Given the description of an element on the screen output the (x, y) to click on. 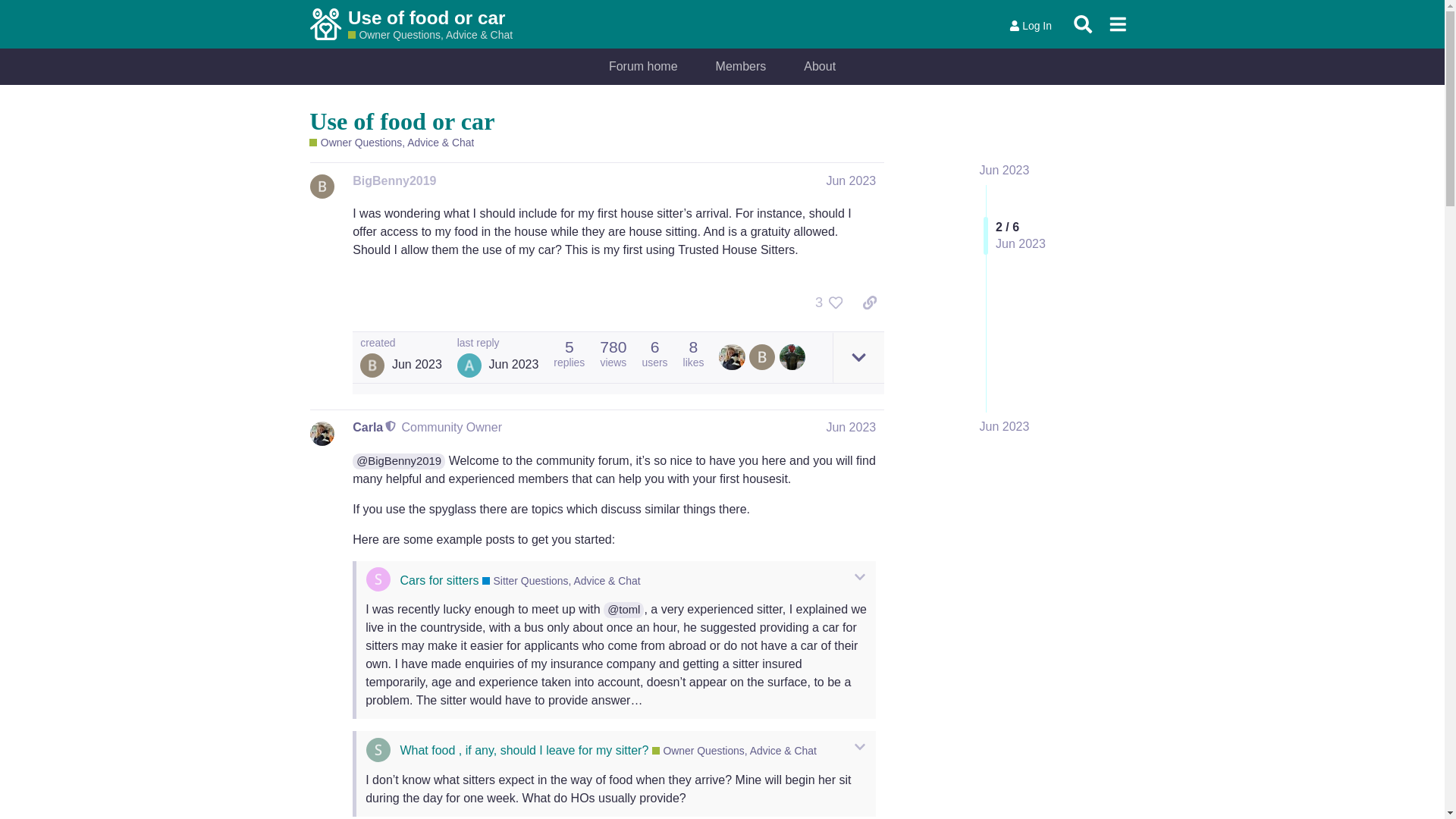
Jump to the last post (1004, 426)
ASASG (469, 364)
What food , if any, should I leave for my sitter? (522, 749)
BigBenny2019 (393, 180)
Log In (1030, 25)
copy a link to this post to clipboard (869, 302)
Carla (367, 427)
About (819, 66)
Jun 2023 (850, 180)
Use of food or car (401, 121)
last reply (497, 343)
Jump to the first post (1004, 169)
Jun 2023 (1004, 426)
